Given the description of an element on the screen output the (x, y) to click on. 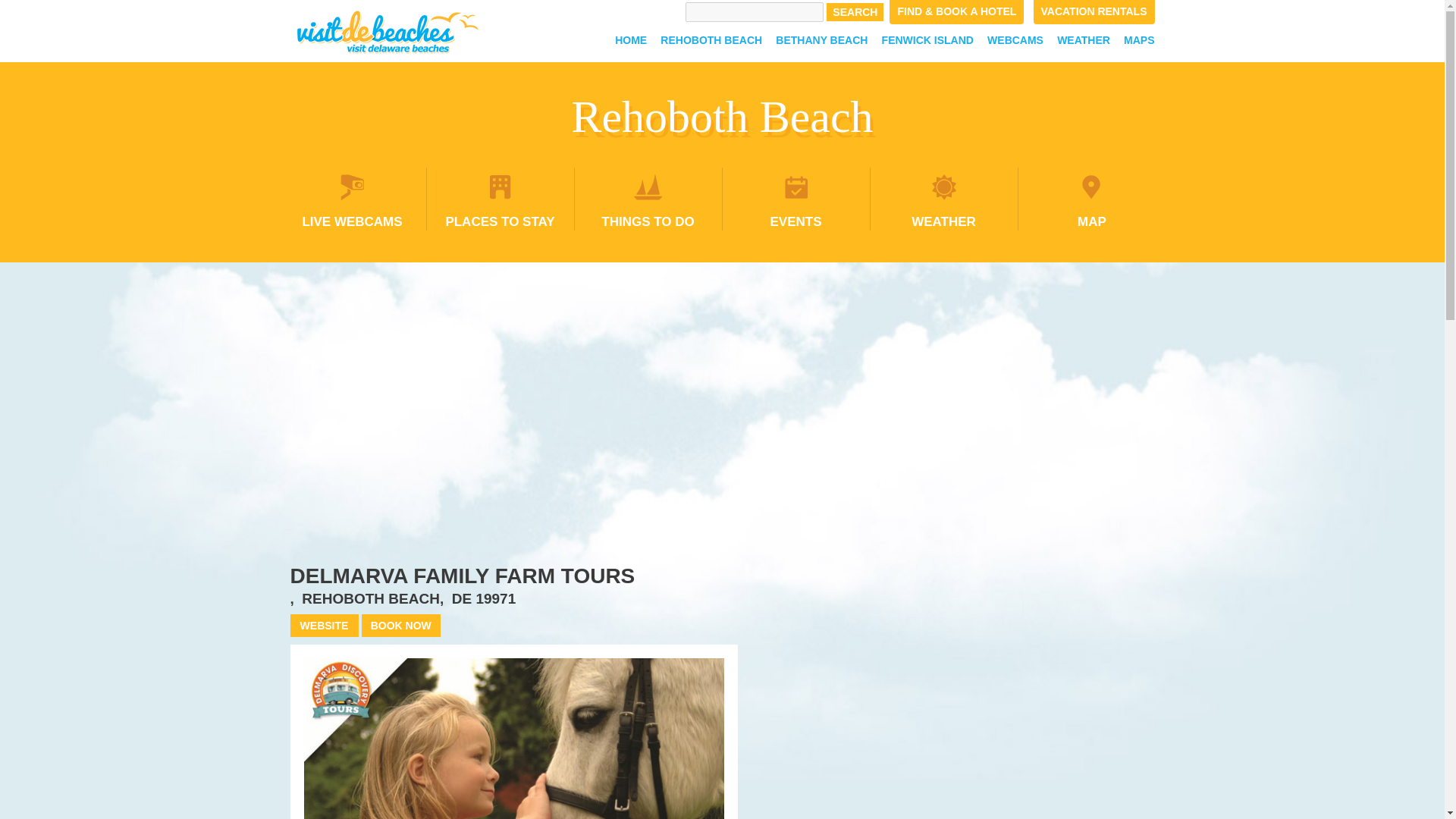
BETHANY BEACH (821, 39)
WEATHER (943, 198)
BOOK NOW (401, 625)
SEARCH (855, 12)
Advertisement (1017, 693)
SEARCH (855, 12)
MAP (1091, 198)
Advertisement (722, 396)
EVENTS (796, 198)
WEBSITE (323, 625)
